Given the description of an element on the screen output the (x, y) to click on. 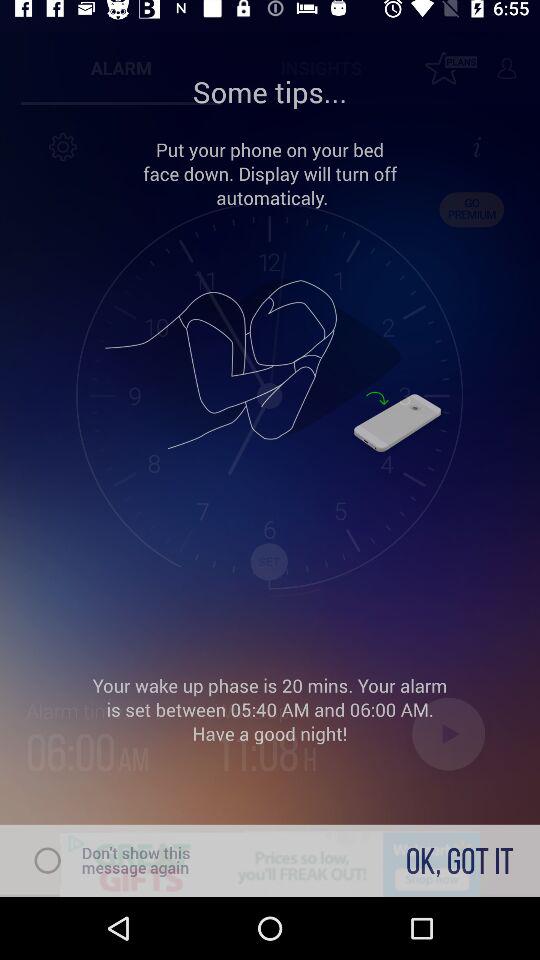
click on the image (269, 366)
select the text  k got it  (460, 860)
